Given the description of an element on the screen output the (x, y) to click on. 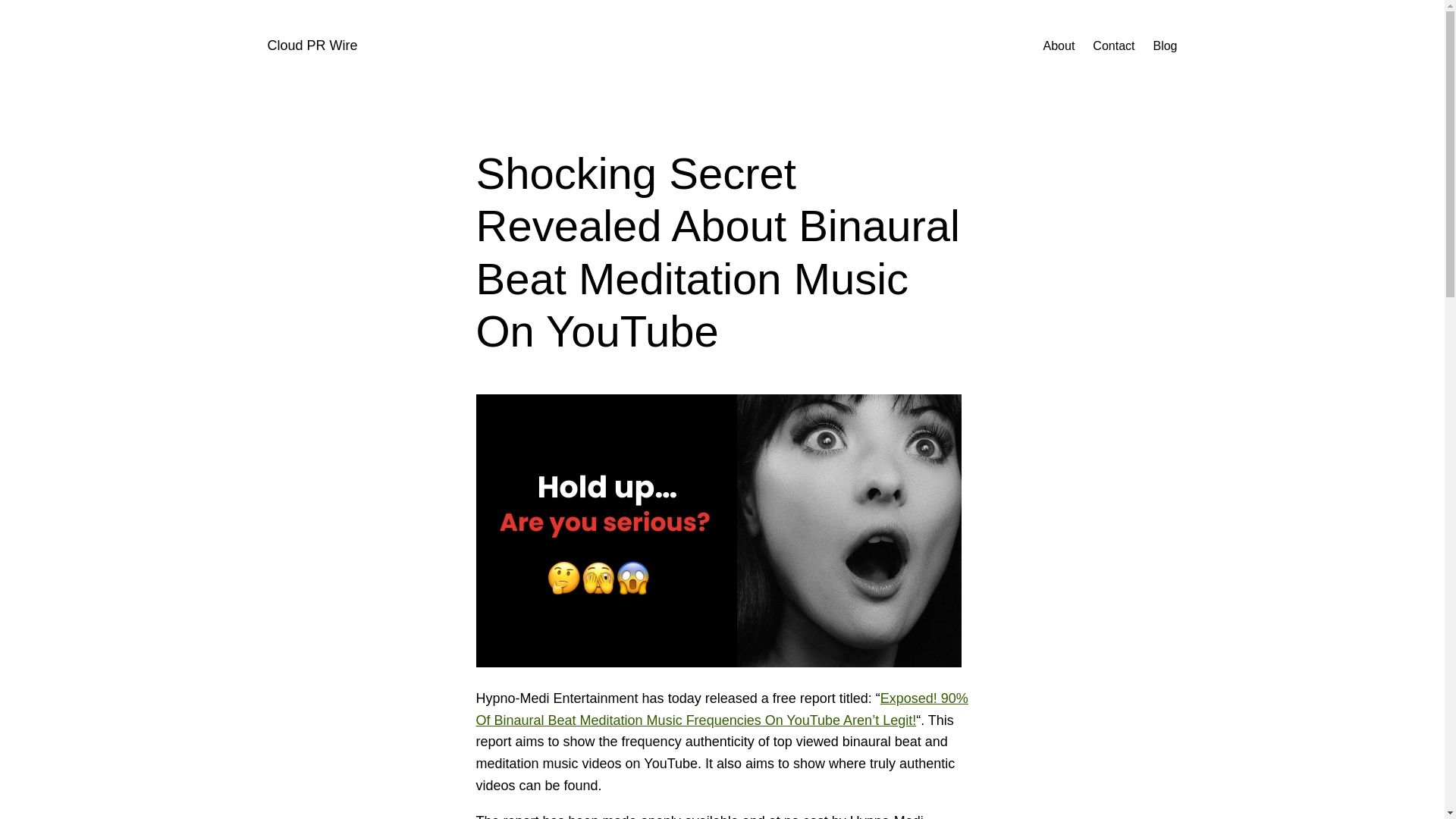
Blog (1164, 46)
About (1059, 46)
Cloud PR Wire (311, 45)
Contact (1113, 46)
